Given the description of an element on the screen output the (x, y) to click on. 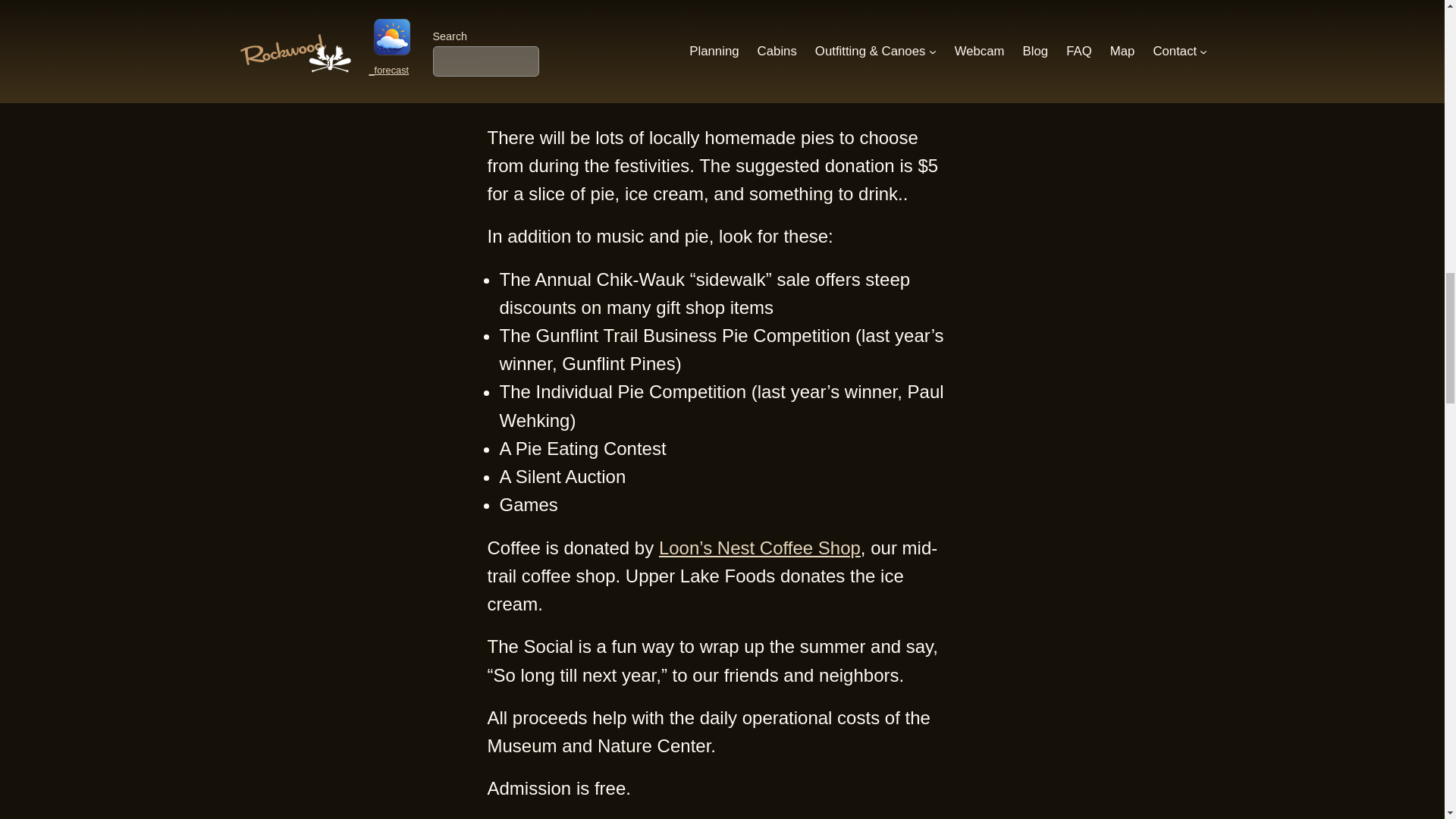
North Shore Swing Band (623, 10)
